Given the description of an element on the screen output the (x, y) to click on. 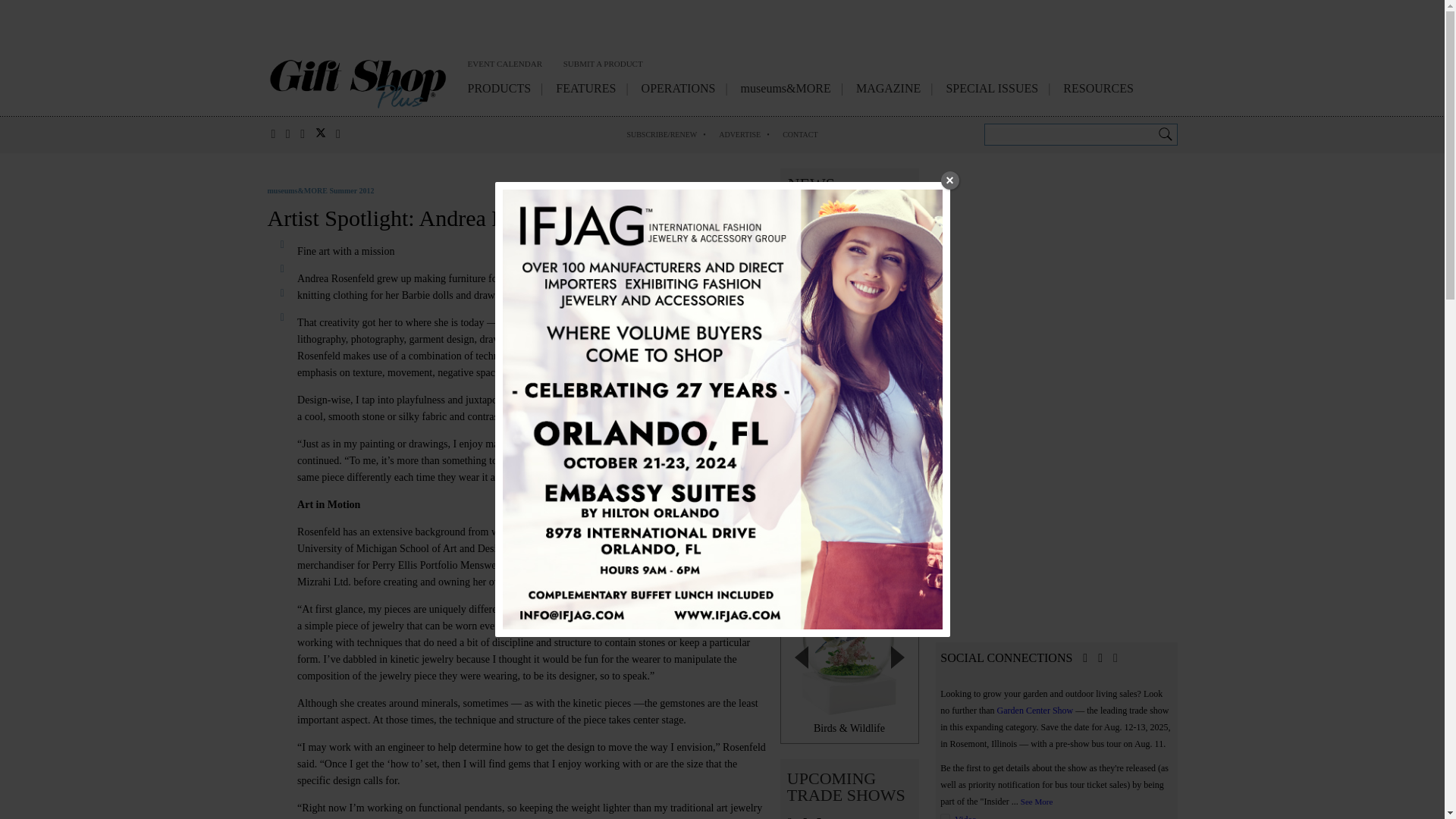
SUBMIT A PRODUCT (603, 66)
PRODUCTS (499, 91)
EVENT CALENDAR (504, 66)
